Given the description of an element on the screen output the (x, y) to click on. 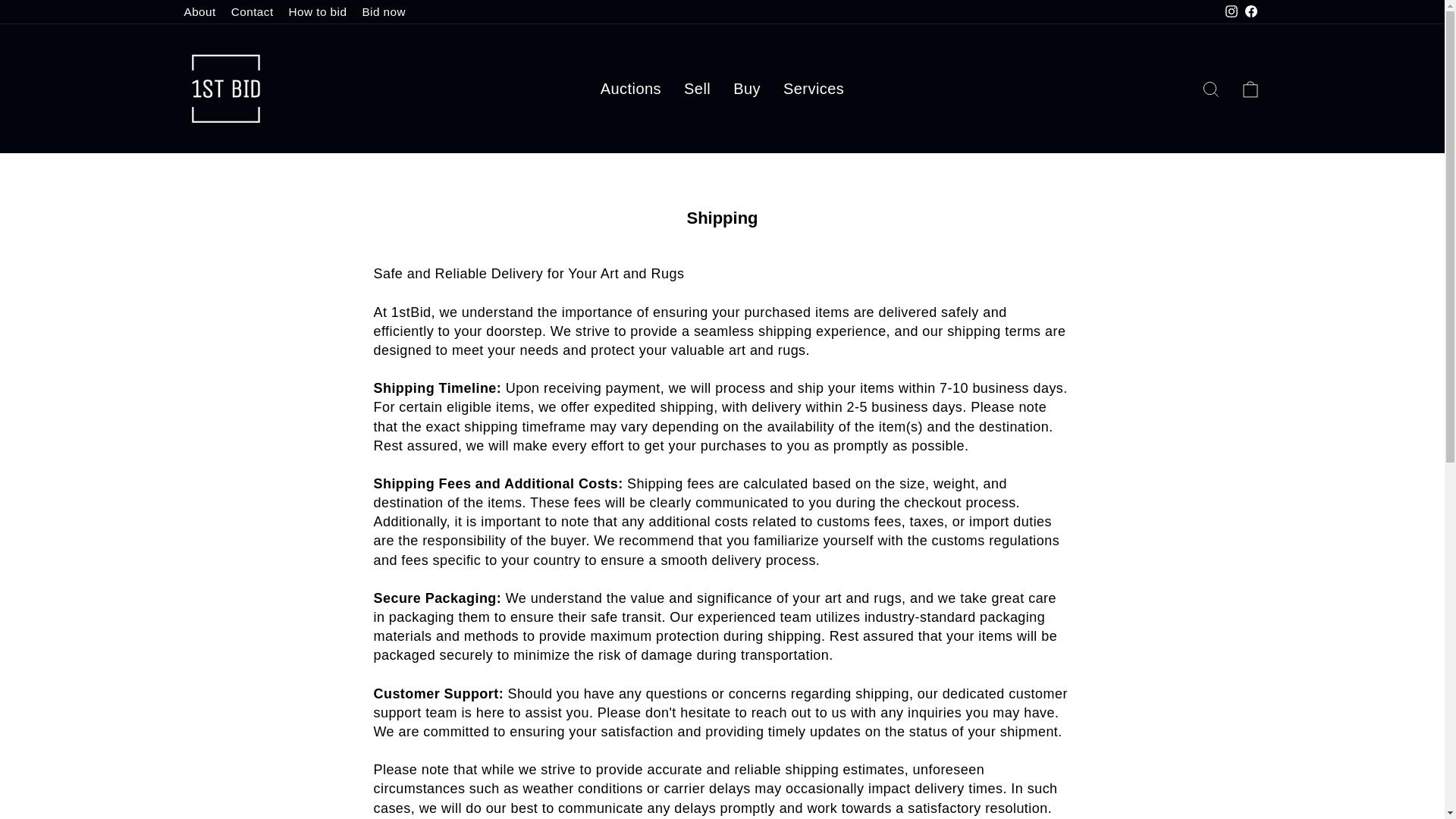
Buy (746, 88)
Cart (1249, 89)
Auctions (630, 88)
About (199, 11)
Search (1210, 89)
Services (813, 88)
Sell (697, 88)
Contact (252, 11)
How to bid (318, 11)
Bid now (383, 11)
